Given the description of an element on the screen output the (x, y) to click on. 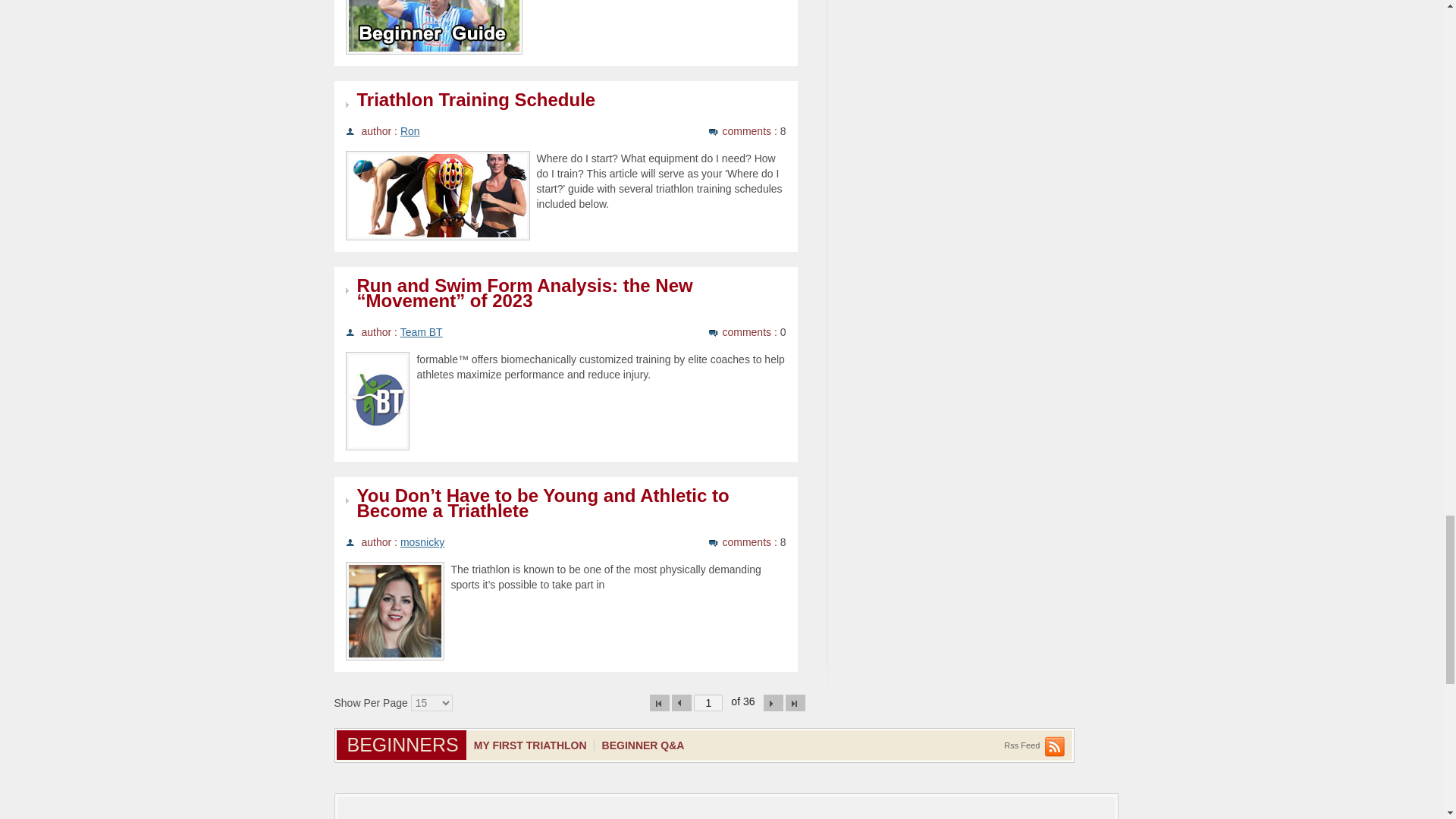
1 (708, 702)
